Given the description of an element on the screen output the (x, y) to click on. 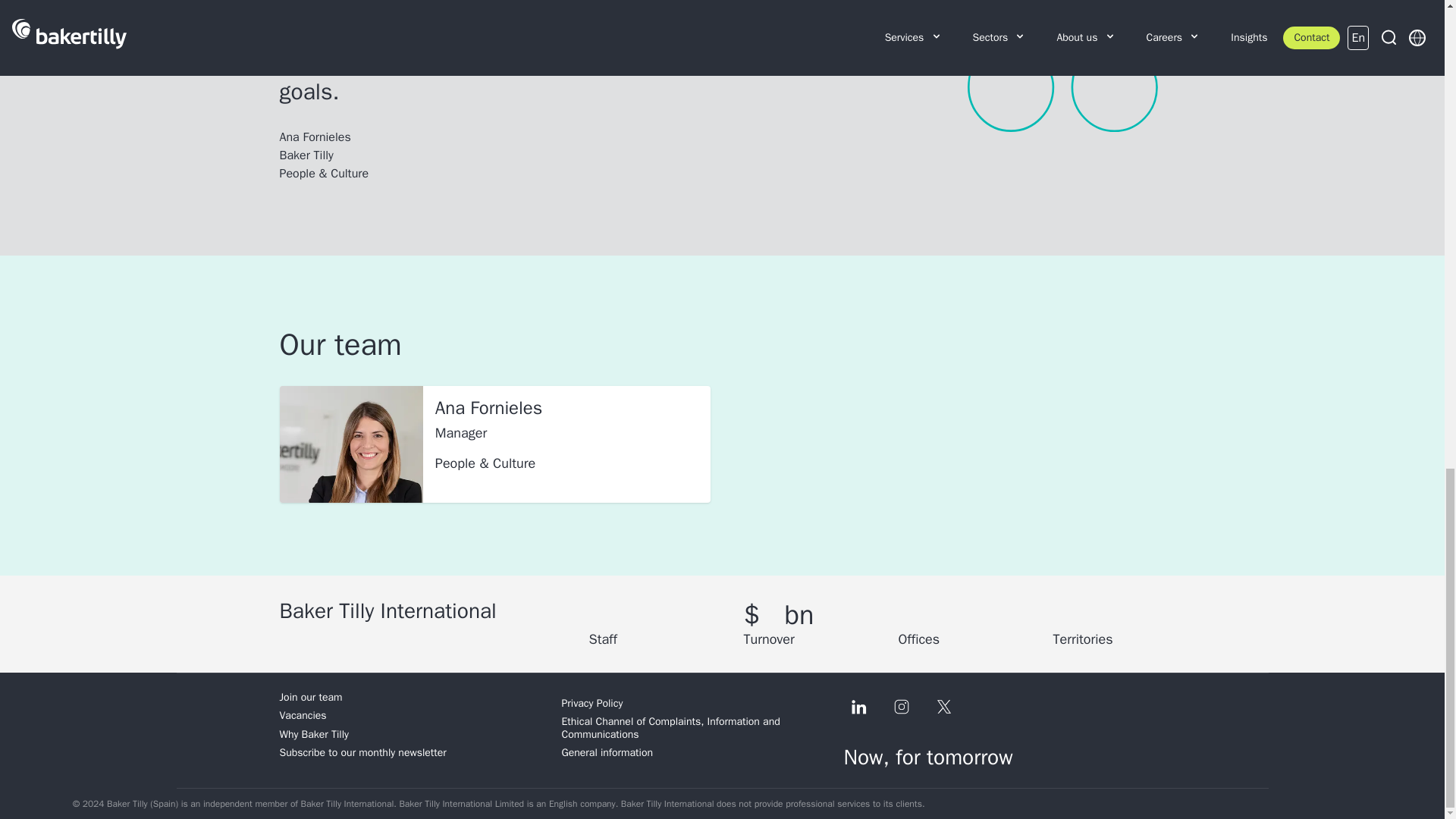
Instagram (900, 706)
X (943, 706)
LinkedIn (858, 706)
